Given the description of an element on the screen output the (x, y) to click on. 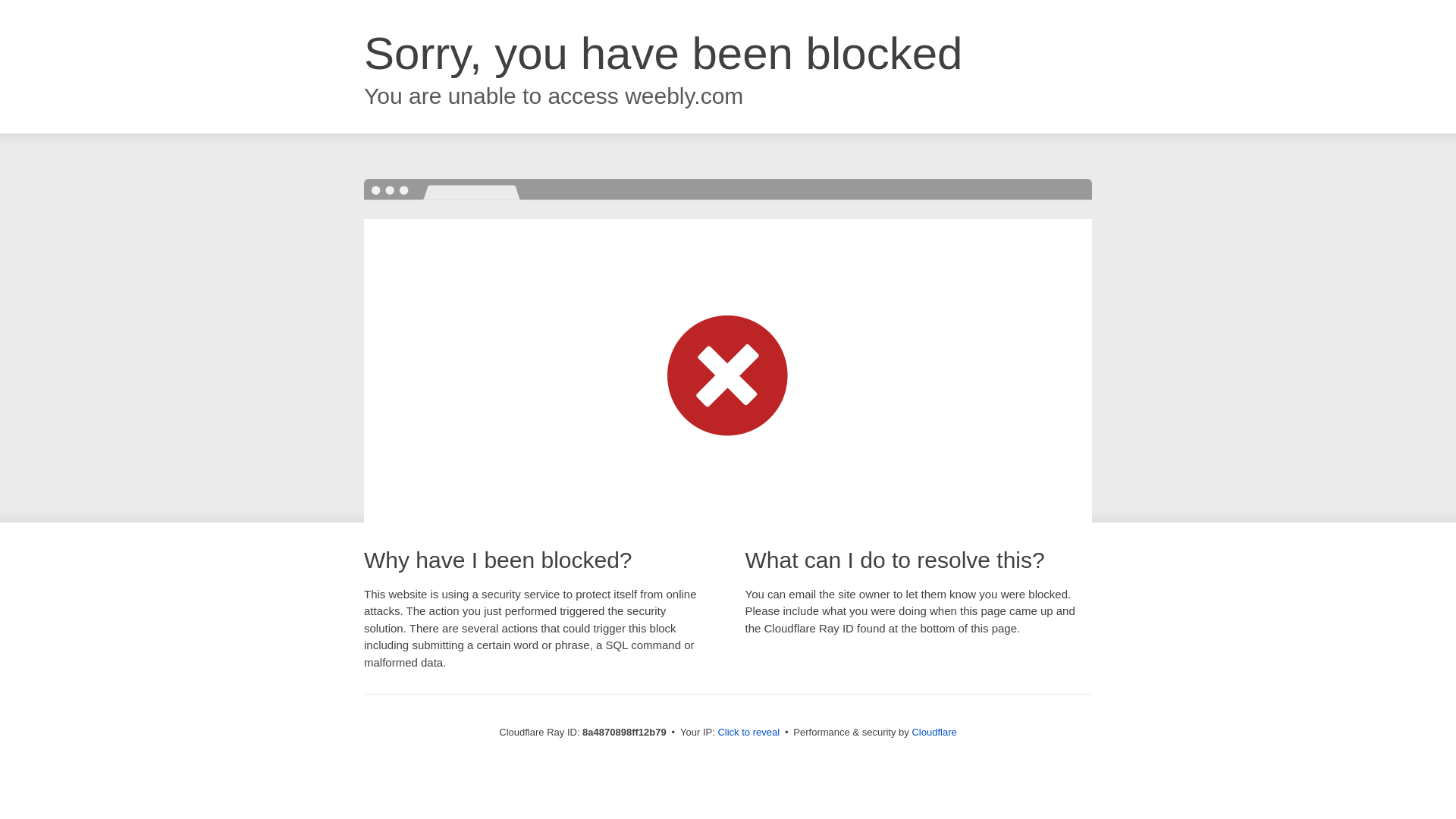
Cloudflare (933, 731)
Click to reveal (747, 732)
